Given the description of an element on the screen output the (x, y) to click on. 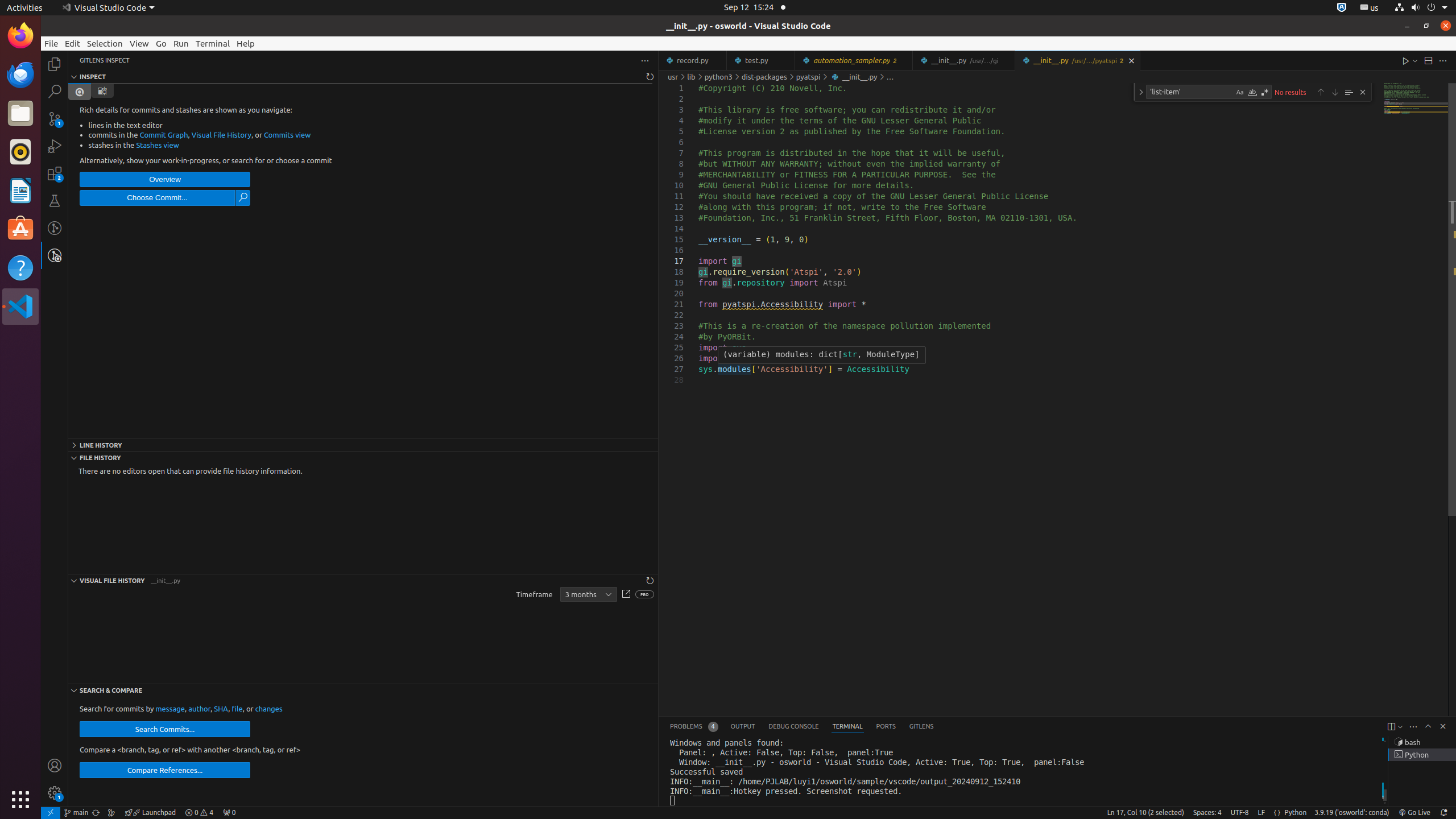
automation_sampler.py, preview Element type: page-tab (854, 60)
Terminal 1 bash Element type: list-item (1422, 741)
Problems (Ctrl+Shift+M) - Total 4 Problems Element type: page-tab (693, 726)
Visual File History Section Element type: push-button (363, 579)
changes Element type: push-button (268, 708)
